Given the description of an element on the screen output the (x, y) to click on. 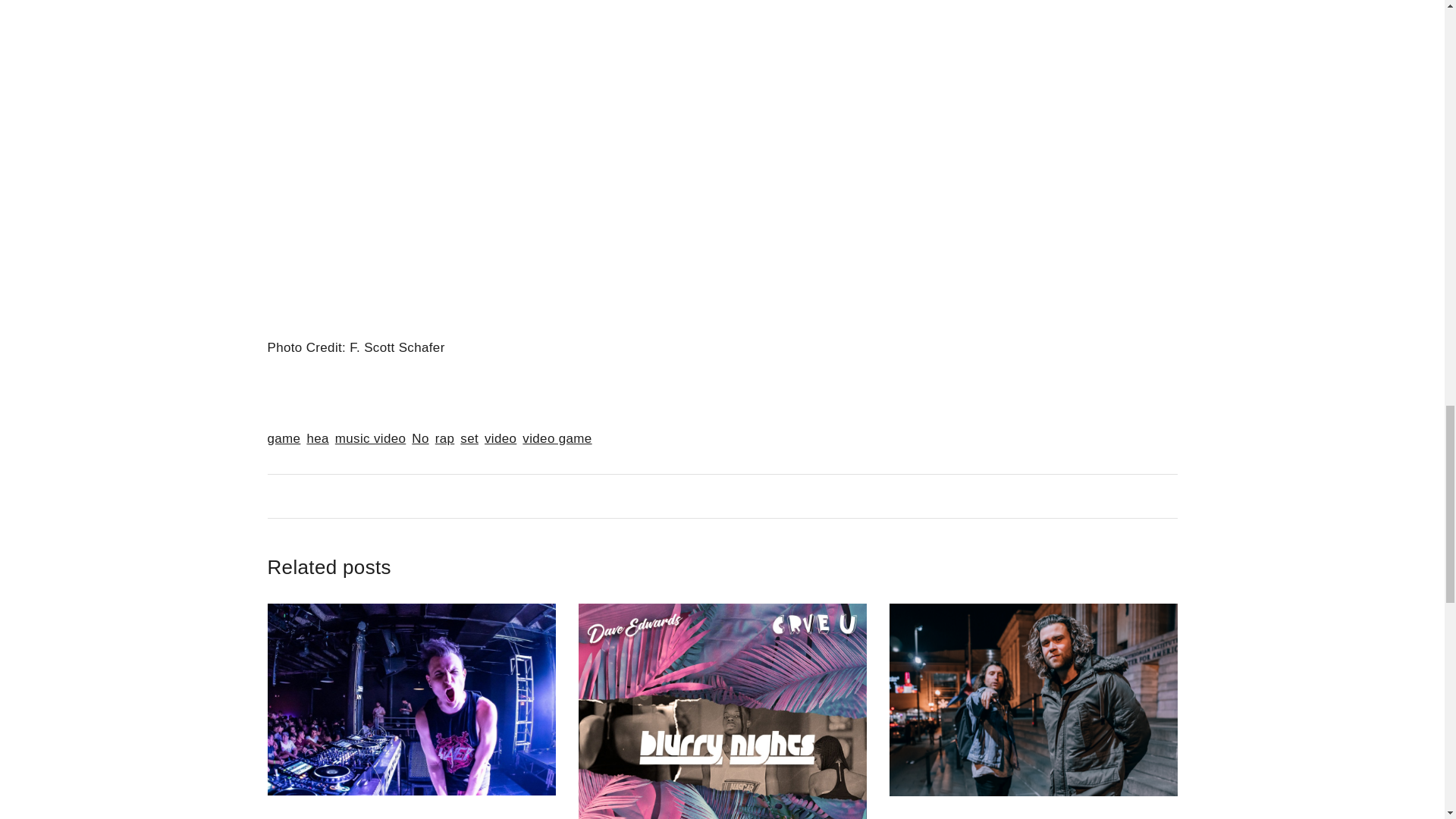
hea (317, 438)
rap (444, 438)
video (500, 438)
set (469, 438)
video game (556, 438)
game (282, 438)
music video (370, 438)
